Given the description of an element on the screen output the (x, y) to click on. 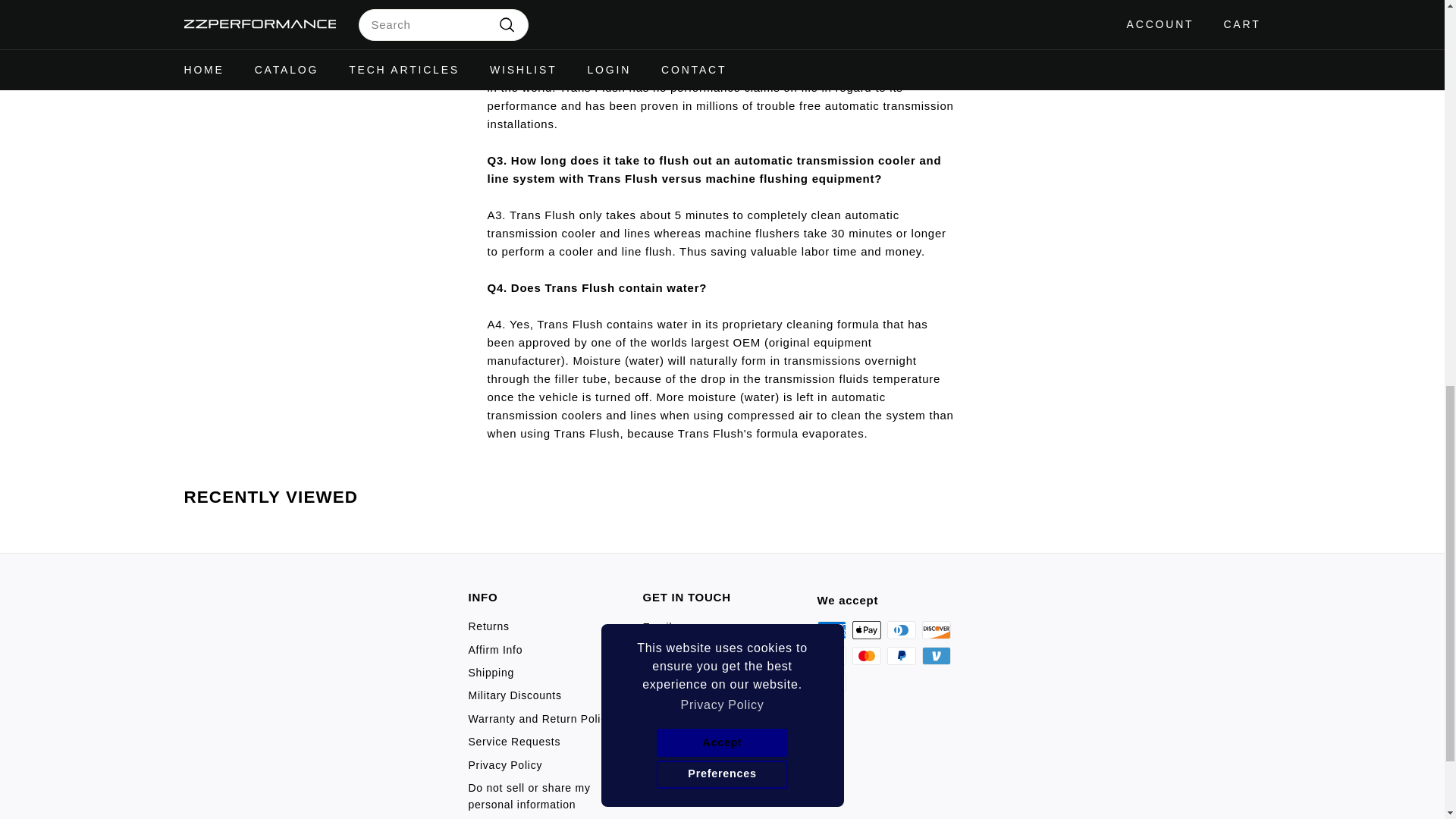
JCB (830, 656)
Apple Pay (865, 629)
Diners Club (900, 629)
Venmo (935, 656)
Visa (830, 682)
PayPal (900, 656)
American Express (830, 629)
Discover (935, 629)
Mastercard (865, 656)
